Given the description of an element on the screen output the (x, y) to click on. 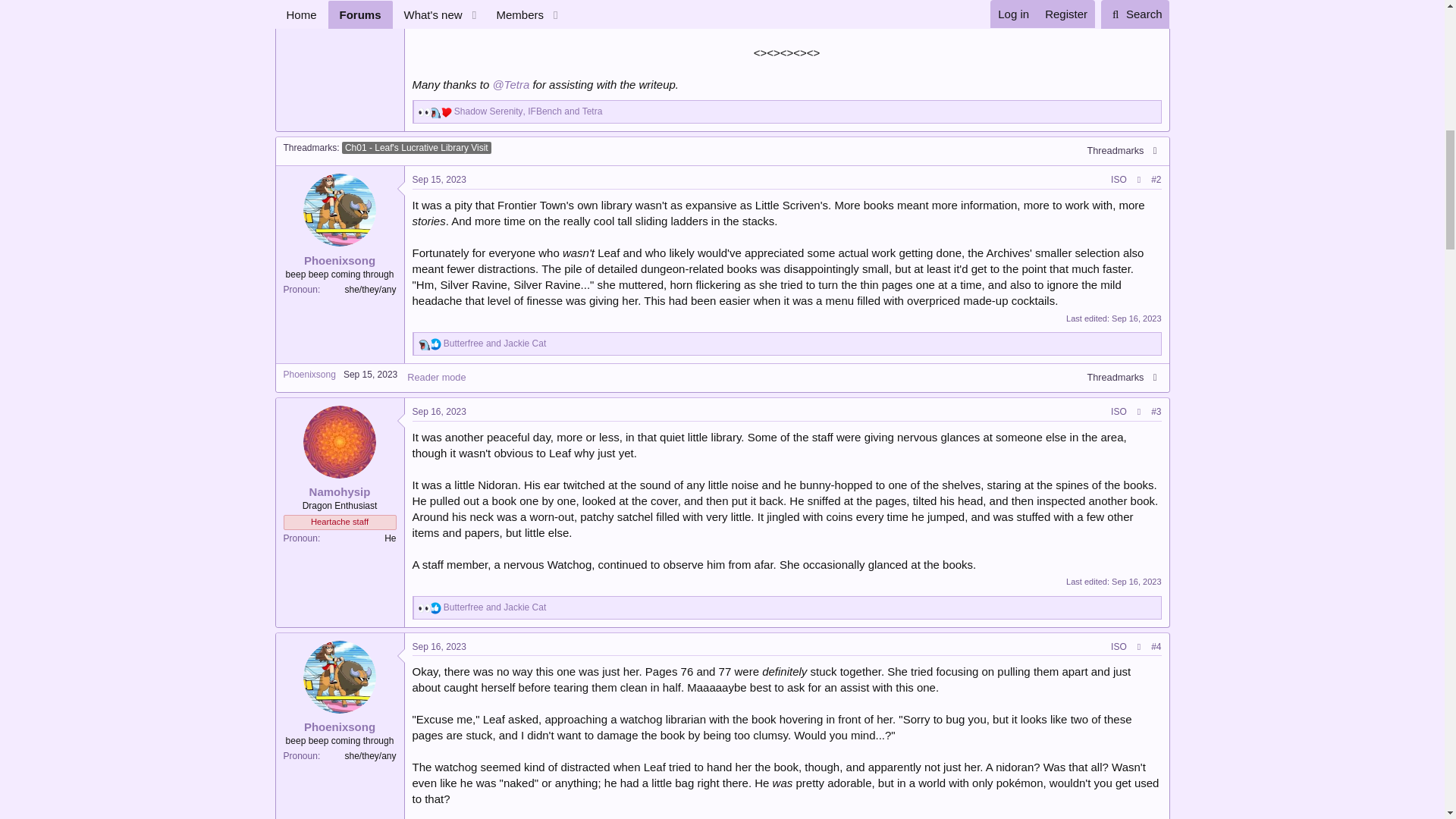
Heart (445, 111)
Sep 16, 2023 at 4:11 AM (1136, 317)
Like (435, 344)
Quag (424, 344)
Eyes (424, 111)
Sep 15, 2023 at 11:40 PM (438, 179)
Isolate Phoenixsong's posts (1118, 179)
Quag (435, 111)
